Given the description of an element on the screen output the (x, y) to click on. 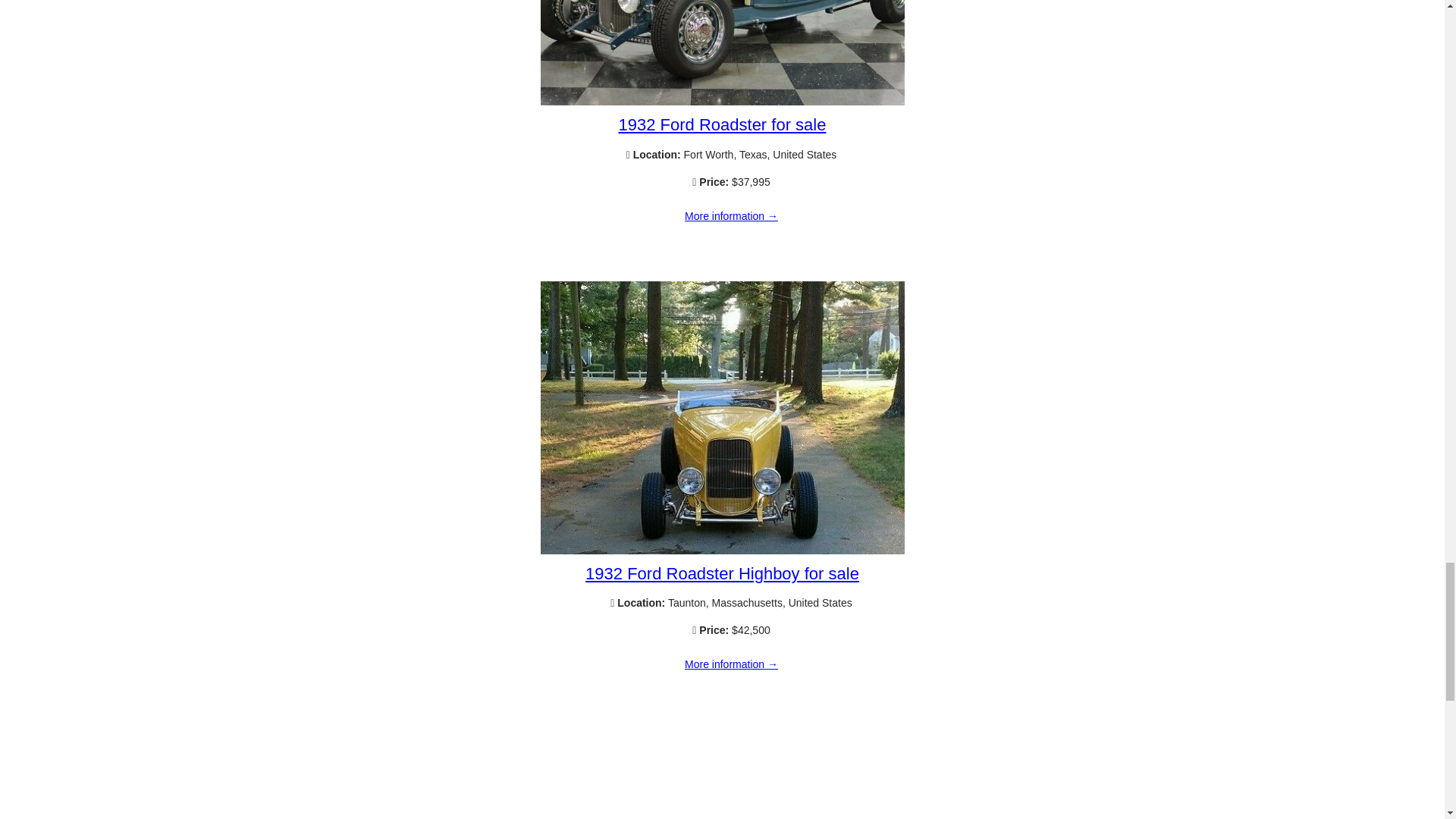
1932 Ford Roadster Highboy for sale (731, 664)
1932 Ford Roadster for sale (731, 216)
1932 Ford Roadster for sale (722, 124)
1932 Ford Roadster Highboy for sale (722, 573)
1932 Ford Roadster Highboy for sale (722, 550)
1932 Ford Roadster for sale (722, 101)
